Given the description of an element on the screen output the (x, y) to click on. 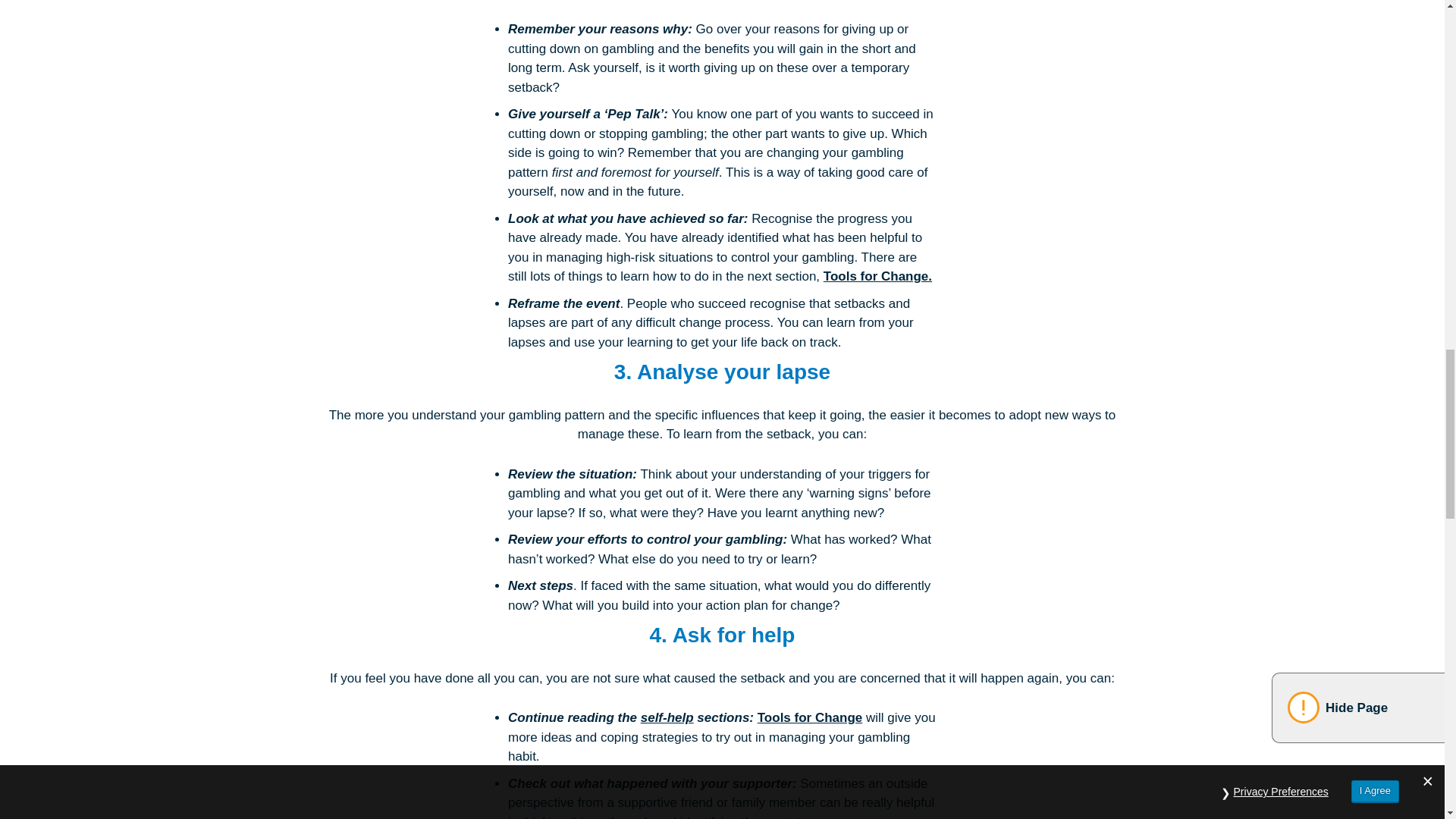
Tools for Change. (877, 276)
self-help (667, 717)
Tools for Change (810, 717)
